Given the description of an element on the screen output the (x, y) to click on. 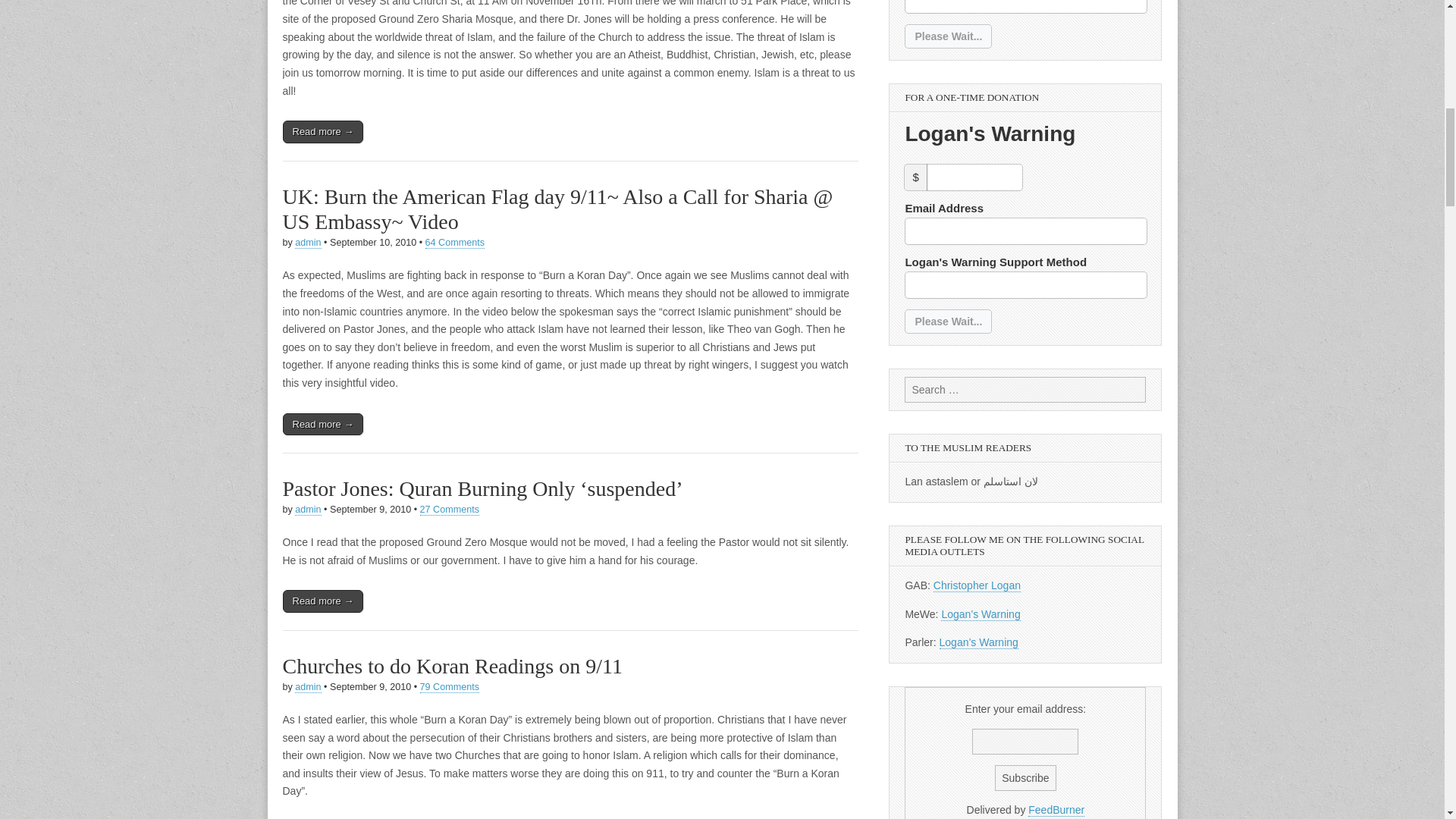
79 Comments (449, 686)
Posts by admin (307, 509)
64 Comments (454, 242)
admin (307, 509)
Posts by admin (307, 242)
Subscribe (1024, 777)
admin (307, 242)
admin (307, 686)
27 Comments (449, 509)
Posts by admin (307, 686)
